Given the description of an element on the screen output the (x, y) to click on. 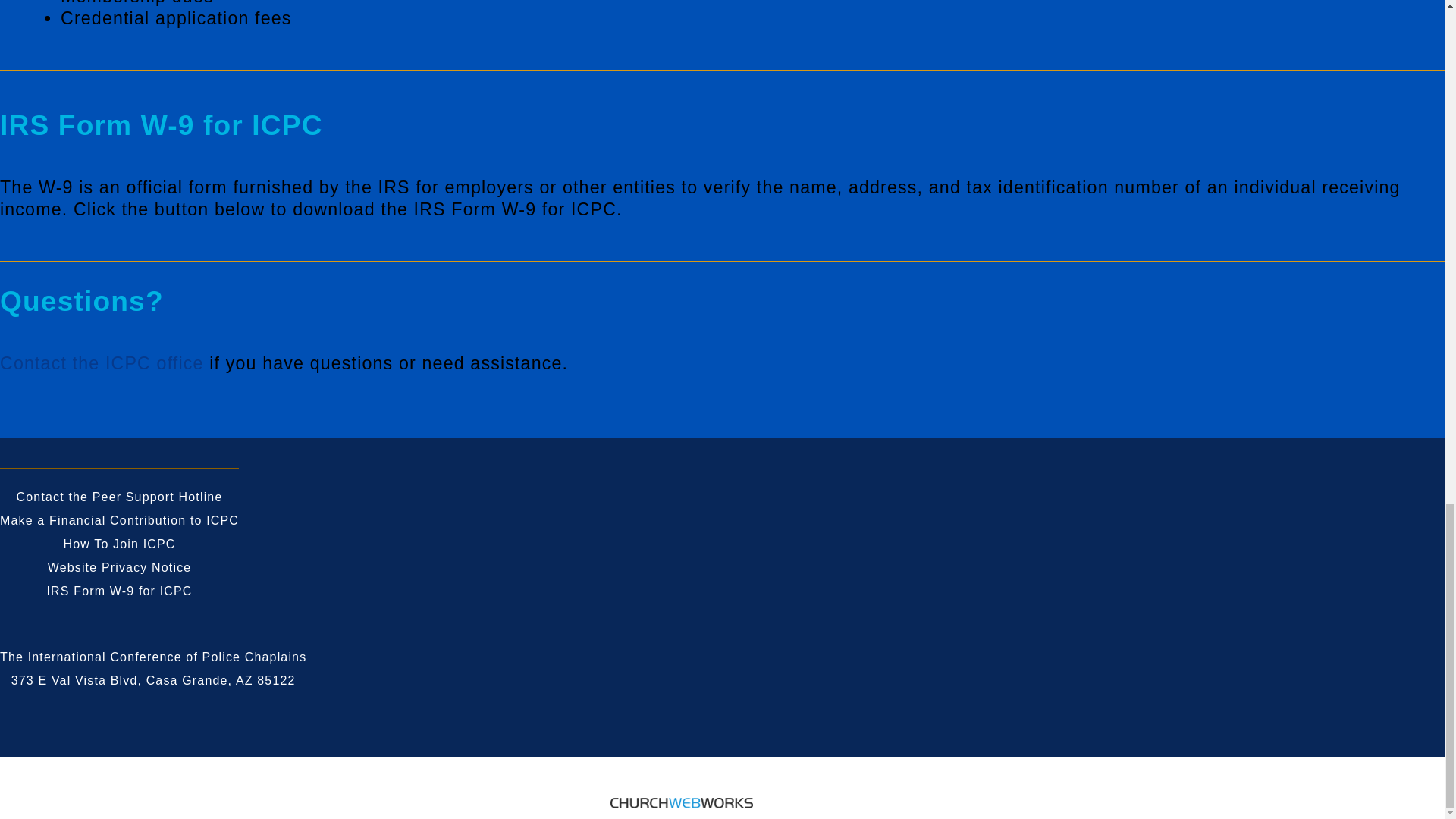
Contact the ICPC office (101, 362)
Contact the Peer Support Hotline (119, 496)
Make a Financial Contribution to ICPC (119, 520)
